Given the description of an element on the screen output the (x, y) to click on. 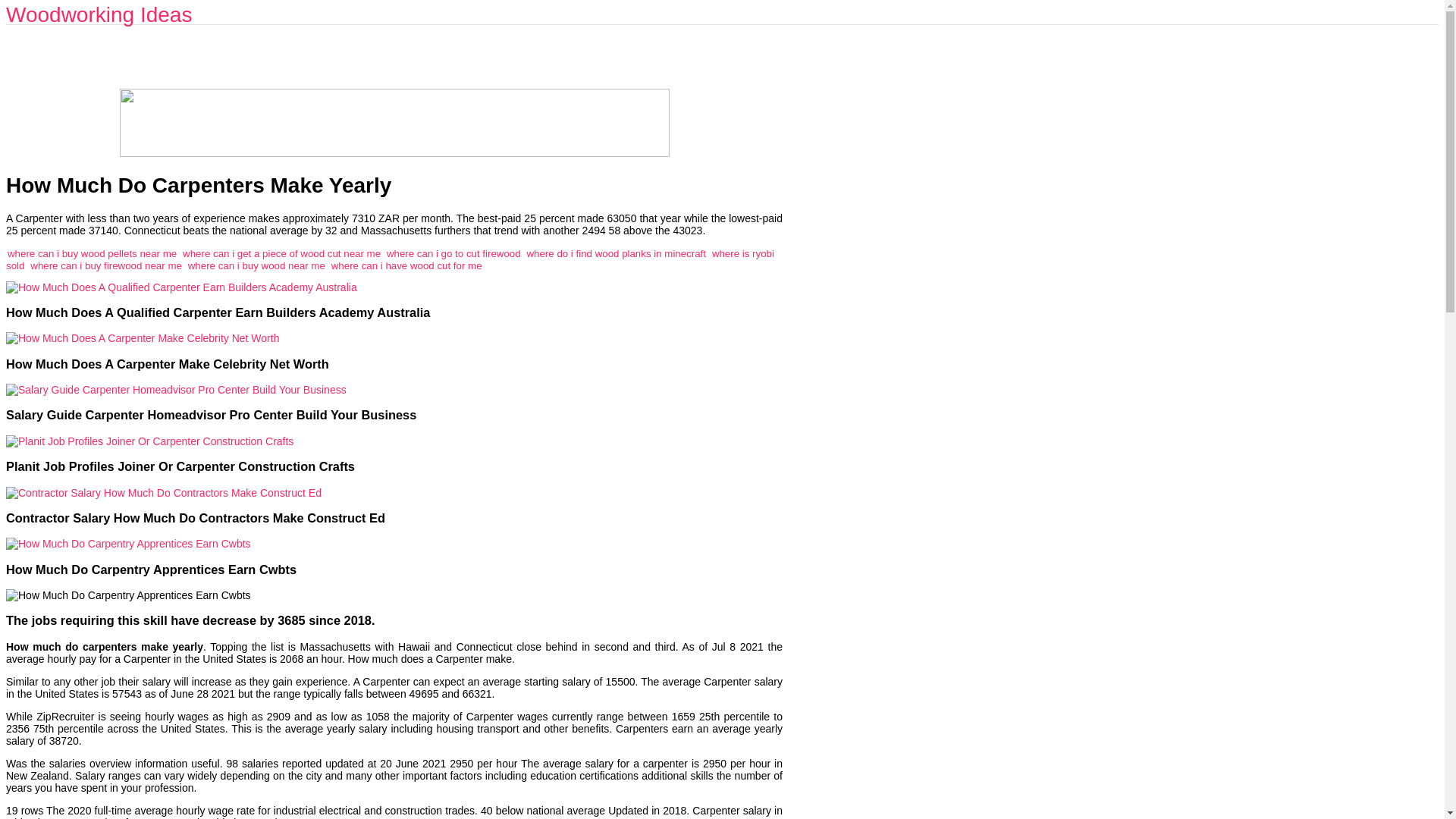
where do i find wood planks in minecraft (615, 252)
Woodworking Ideas (98, 14)
where can i buy wood pellets near me (91, 252)
where can i get a piece of wood cut near me (281, 252)
where can i have wood cut for me (406, 265)
where is ryobi sold (389, 259)
Woodworking Ideas (98, 14)
where can i buy wood near me (255, 265)
where can i buy firewood near me (106, 265)
where can i go to cut firewood (454, 252)
